Given the description of an element on the screen output the (x, y) to click on. 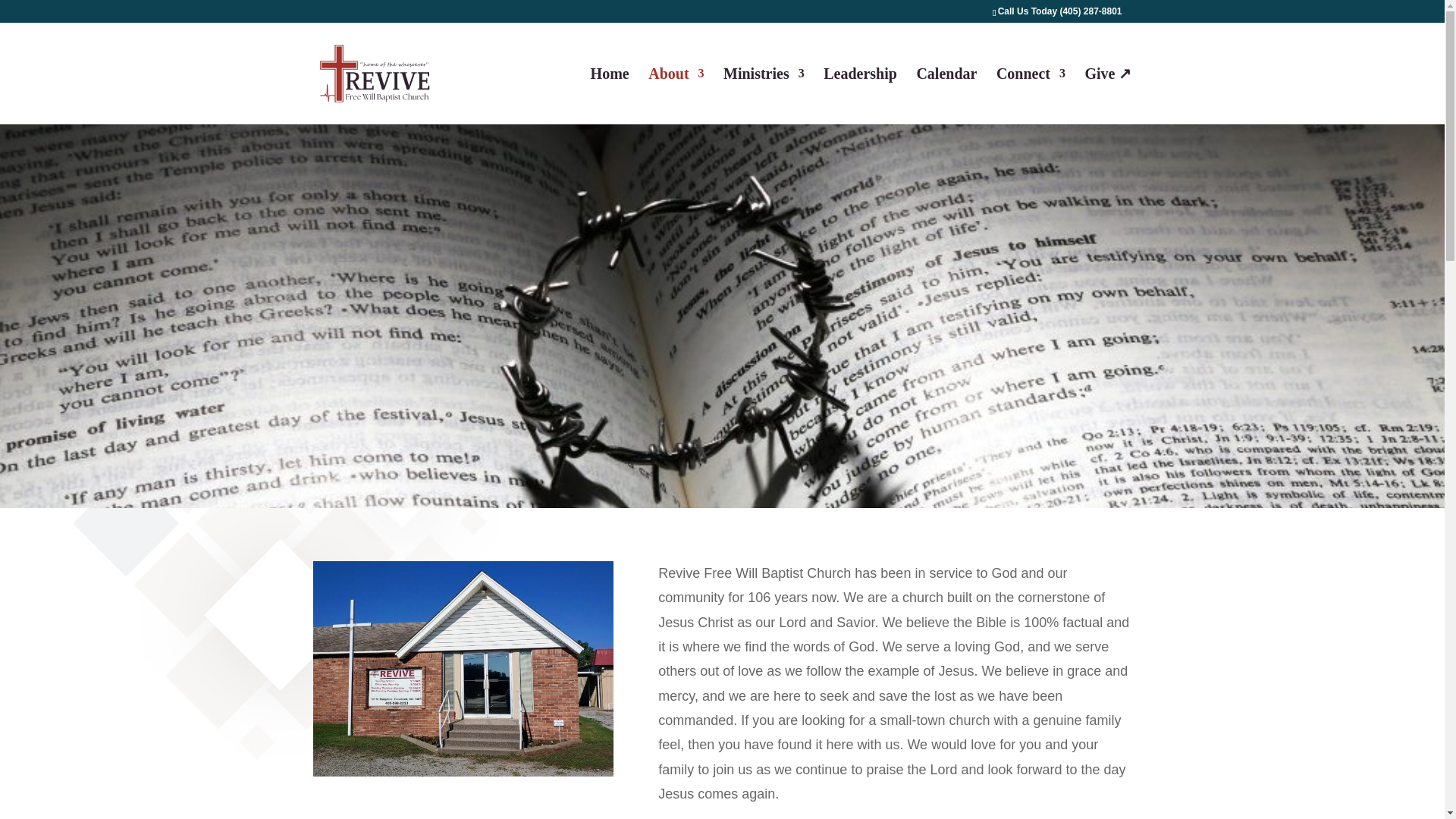
Leadership (860, 95)
Ministries (764, 95)
Connect (1030, 95)
Revive Front Doors (462, 668)
About (675, 95)
Calendar (945, 95)
